Given the description of an element on the screen output the (x, y) to click on. 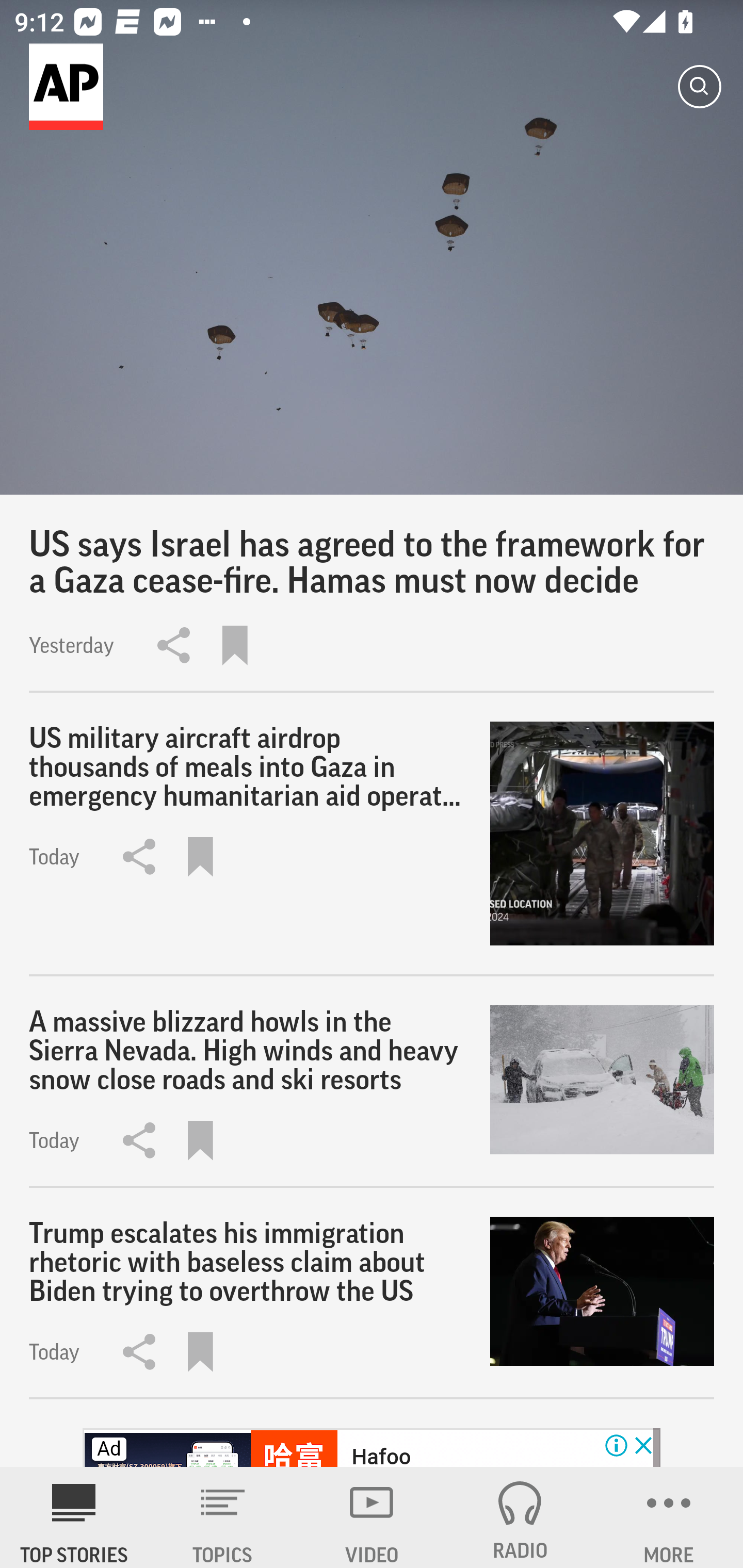
Hafoo (381, 1454)
AP News TOP STORIES (74, 1517)
TOPICS (222, 1517)
VIDEO (371, 1517)
RADIO (519, 1517)
MORE (668, 1517)
